Given the description of an element on the screen output the (x, y) to click on. 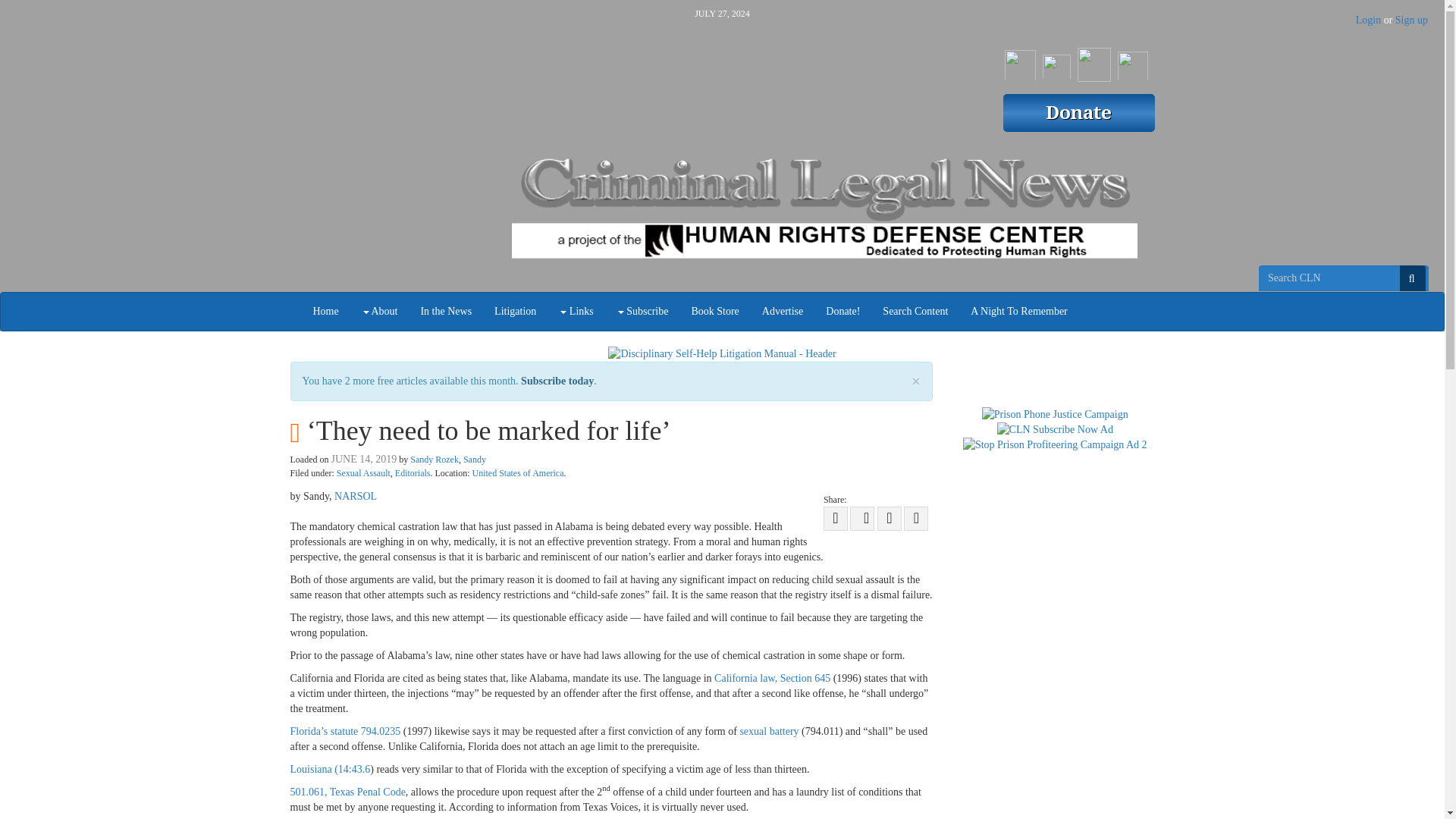
Subscribe today (557, 380)
Litigation (515, 311)
Search Content (914, 311)
A Night To Remember (1018, 311)
About (379, 311)
Sign up (1411, 19)
In the News (446, 311)
HRDC Instagram Page (1093, 60)
Home (325, 311)
Book Store (714, 311)
Paul Wright's LinkedIn Page (1133, 60)
Subscribe (642, 311)
Links (575, 311)
Search (1412, 278)
Advertise (782, 311)
